Given the description of an element on the screen output the (x, y) to click on. 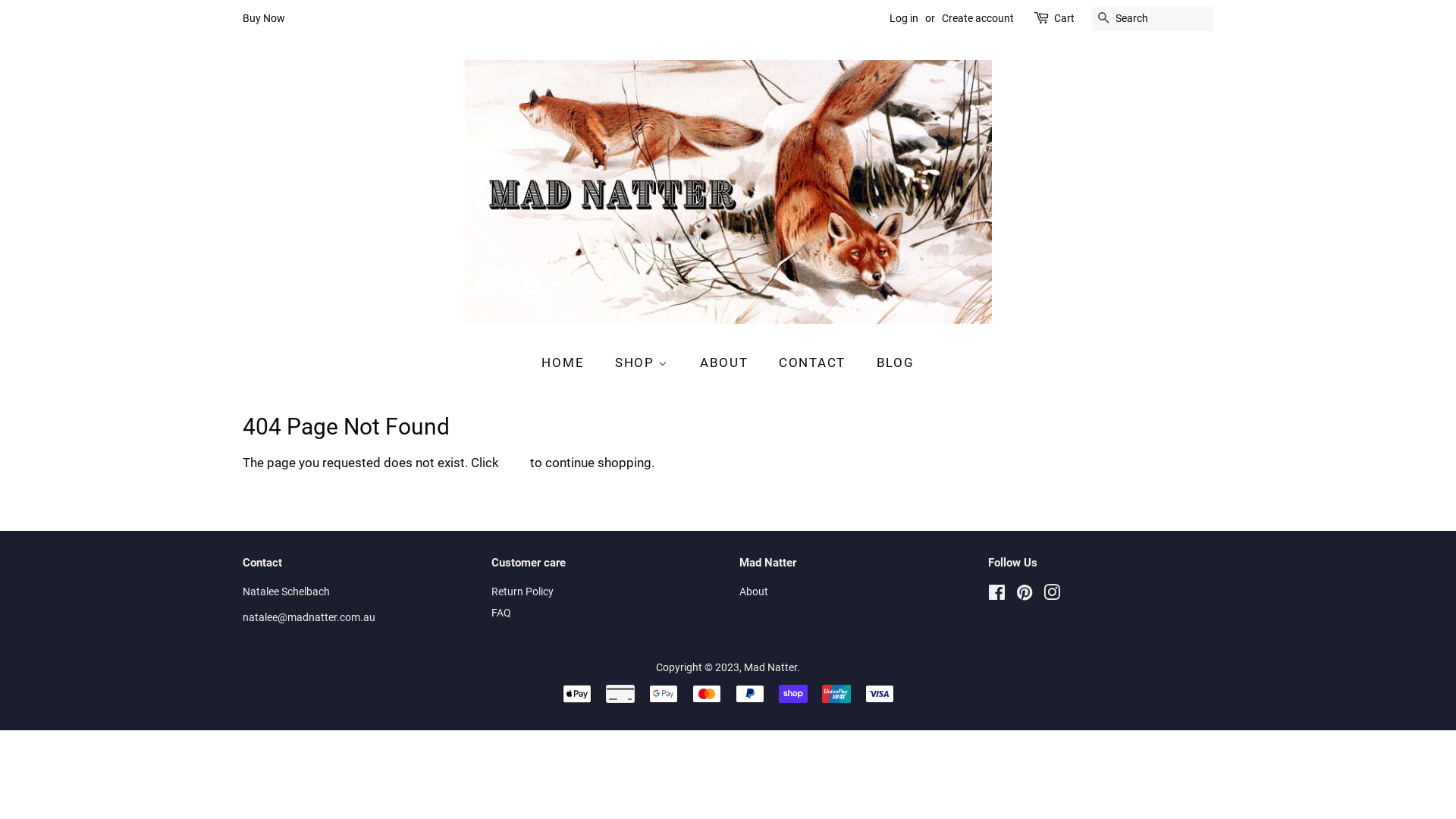
here Element type: text (514, 462)
Instagram Element type: text (1051, 595)
Return Policy Element type: text (522, 591)
Facebook Element type: text (995, 595)
Pinterest Element type: text (1024, 595)
Log in Element type: text (903, 18)
Cart Element type: text (1064, 18)
About Element type: text (753, 591)
Create account Element type: text (977, 18)
SHOP Element type: text (643, 362)
BLOG Element type: text (889, 362)
FAQ Element type: text (501, 612)
ABOUT Element type: text (725, 362)
Buy Now Element type: text (263, 18)
HOME Element type: text (570, 362)
SEARCH Element type: text (1104, 18)
CONTACT Element type: text (813, 362)
Mad Natter Element type: text (770, 667)
